Given the description of an element on the screen output the (x, y) to click on. 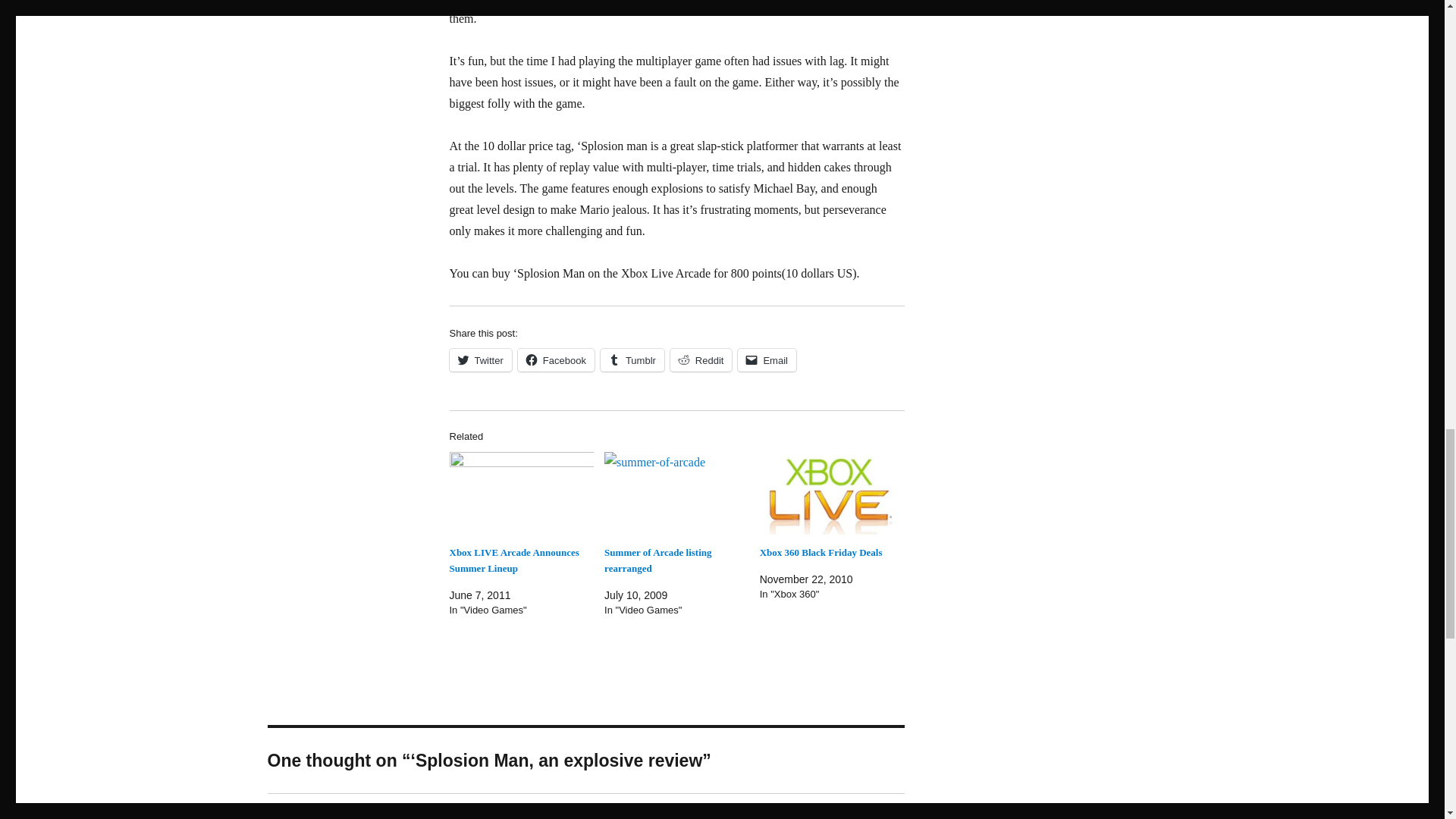
Summer of Arcade listing rearranged (657, 560)
Reddit (700, 359)
Click to share on Reddit (700, 359)
Xbox LIVE Arcade Announces Summer Lineup (521, 493)
Click to share on Tumblr (631, 359)
Twitter (479, 359)
Xbox LIVE Arcade Announces Summer Lineup (513, 560)
Email (767, 359)
Summer of Arcade listing rearranged (676, 493)
Tumblr (631, 359)
Click to share on Twitter (479, 359)
Click to share on Facebook (556, 359)
Facebook (556, 359)
Summer of Arcade listing rearranged (657, 560)
Xbox 360 Black Friday Deals (821, 552)
